Given the description of an element on the screen output the (x, y) to click on. 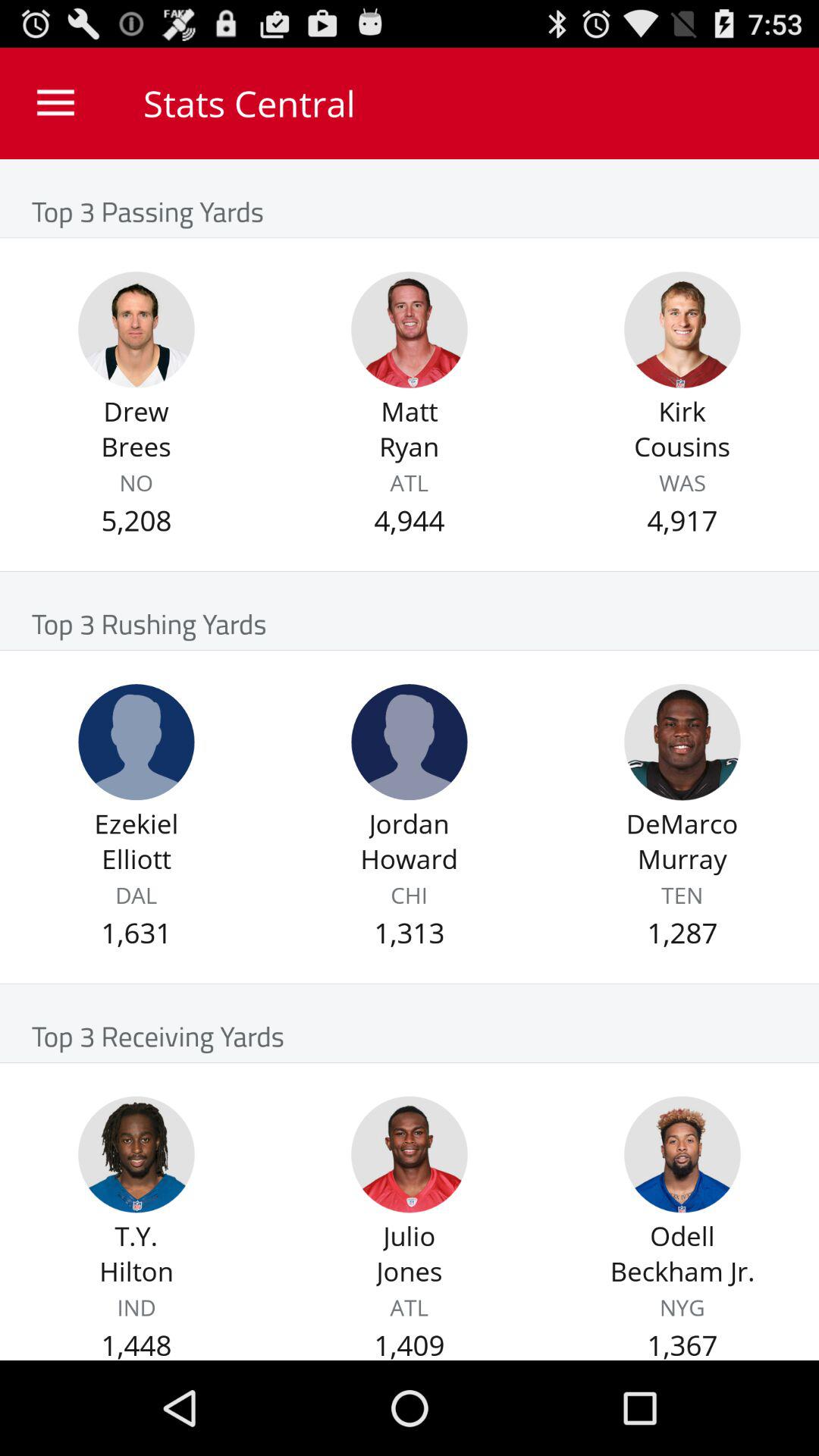
select the person (136, 741)
